Given the description of an element on the screen output the (x, y) to click on. 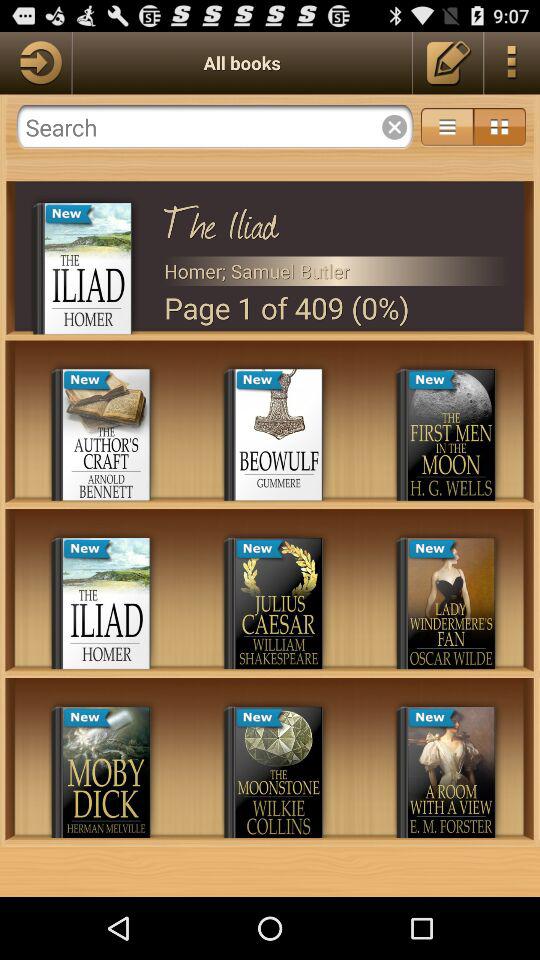
share the article (35, 62)
